Given the description of an element on the screen output the (x, y) to click on. 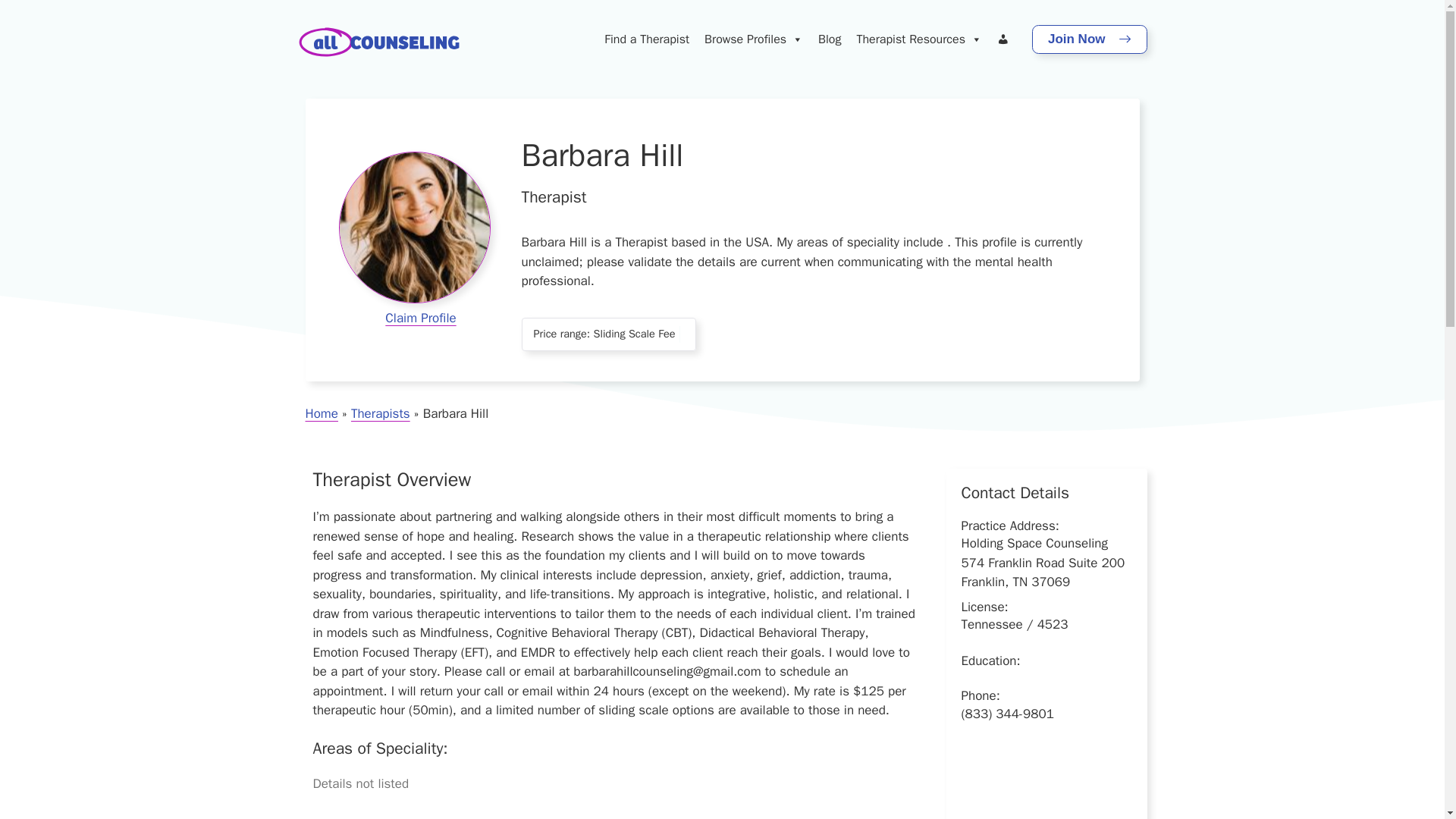
Therapist Resources (918, 39)
Barbara Hill (413, 227)
Join Now (1089, 39)
Browse Profiles (753, 39)
Find a Therapist (646, 39)
